Given the description of an element on the screen output the (x, y) to click on. 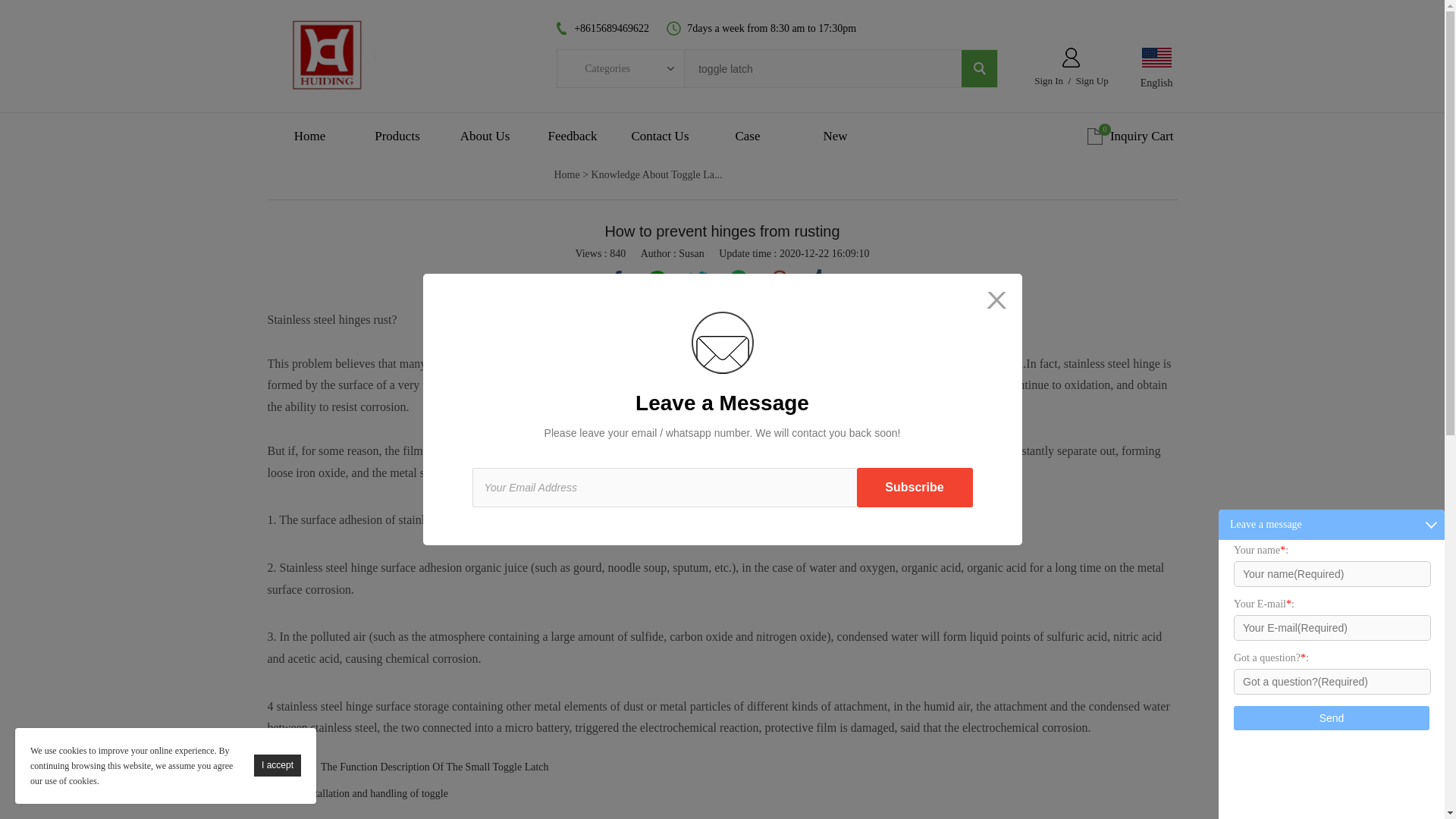
Subscribe (914, 486)
Home (309, 136)
I accept (277, 765)
Send (1331, 717)
Products (397, 136)
